Given the description of an element on the screen output the (x, y) to click on. 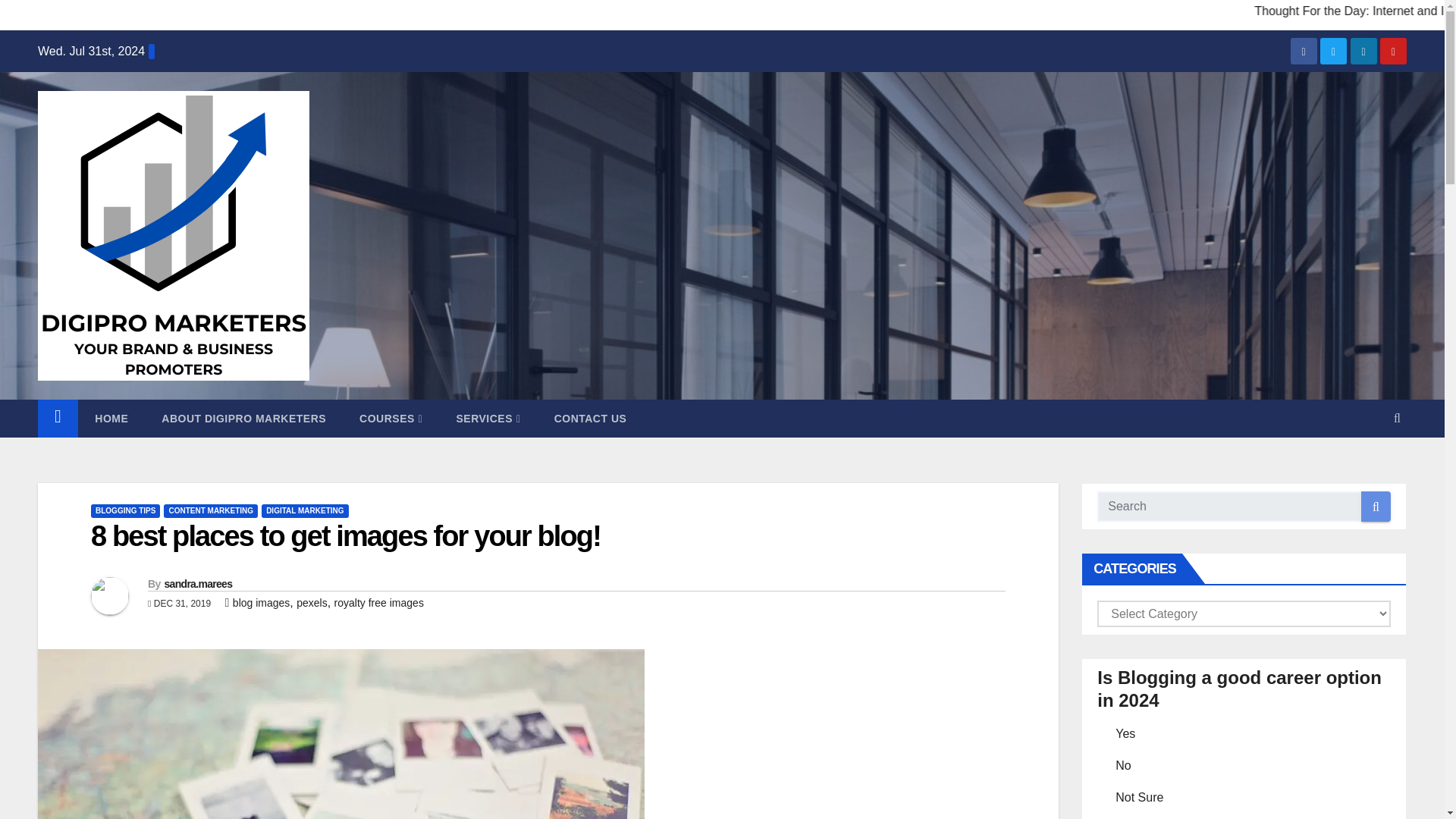
COURSES (390, 418)
Yes (1103, 731)
royalty free images (378, 603)
8 best places to get images for your blog! (344, 536)
sandra.marees (197, 583)
DIGITAL MARKETING (304, 510)
Not Sure (1103, 795)
ABOUT DIGIPRO MARKETERS (243, 418)
Permalink to: 8 best places to get images for your blog! (344, 536)
HOME (111, 418)
CONTENT MARKETING (210, 510)
CONTACT US (590, 418)
pexels (311, 603)
blog images (260, 603)
BLOGGING TIPS (125, 510)
